Given the description of an element on the screen output the (x, y) to click on. 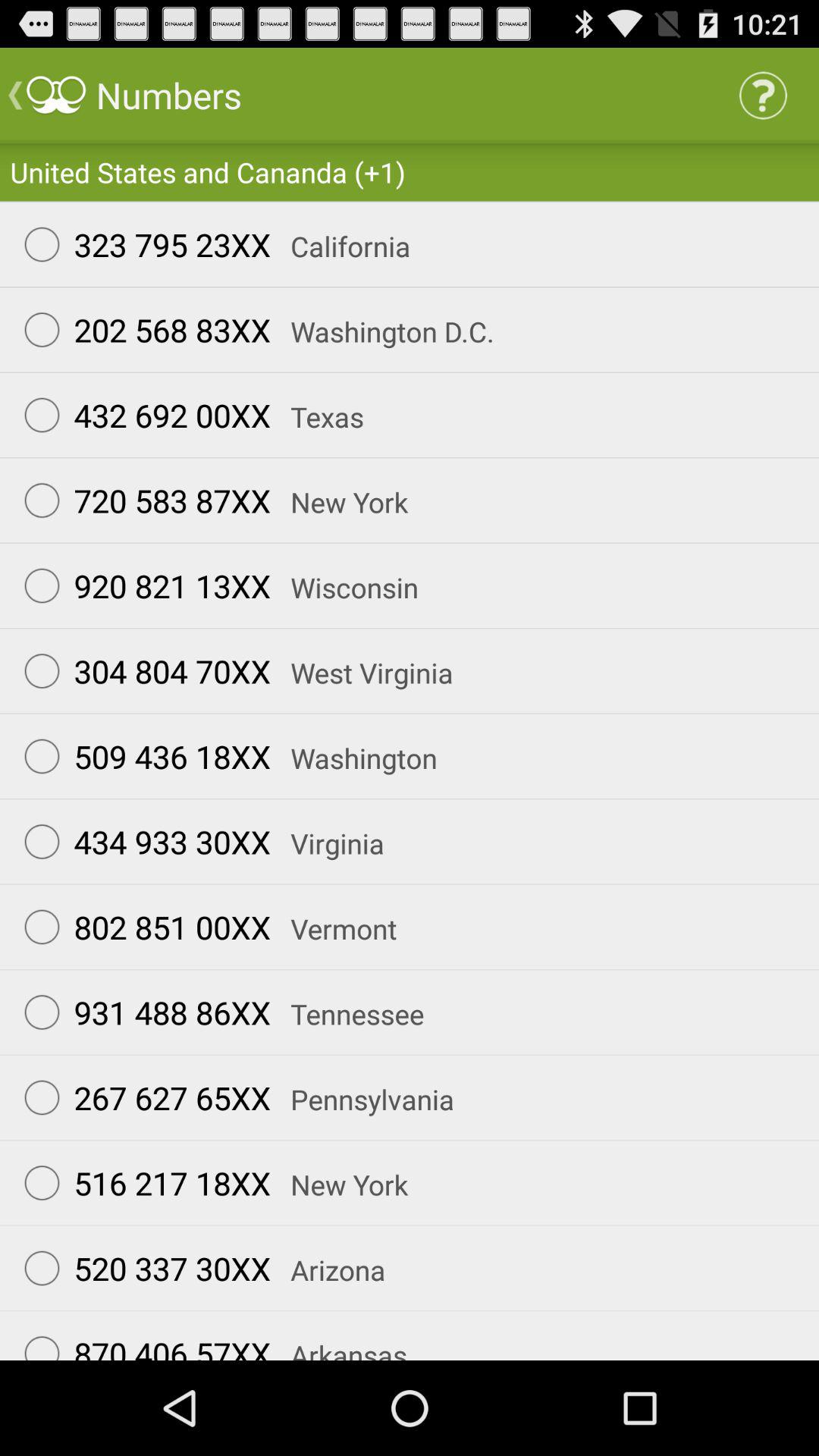
turn on the icon above the 509 436 18xx item (140, 670)
